Given the description of an element on the screen output the (x, y) to click on. 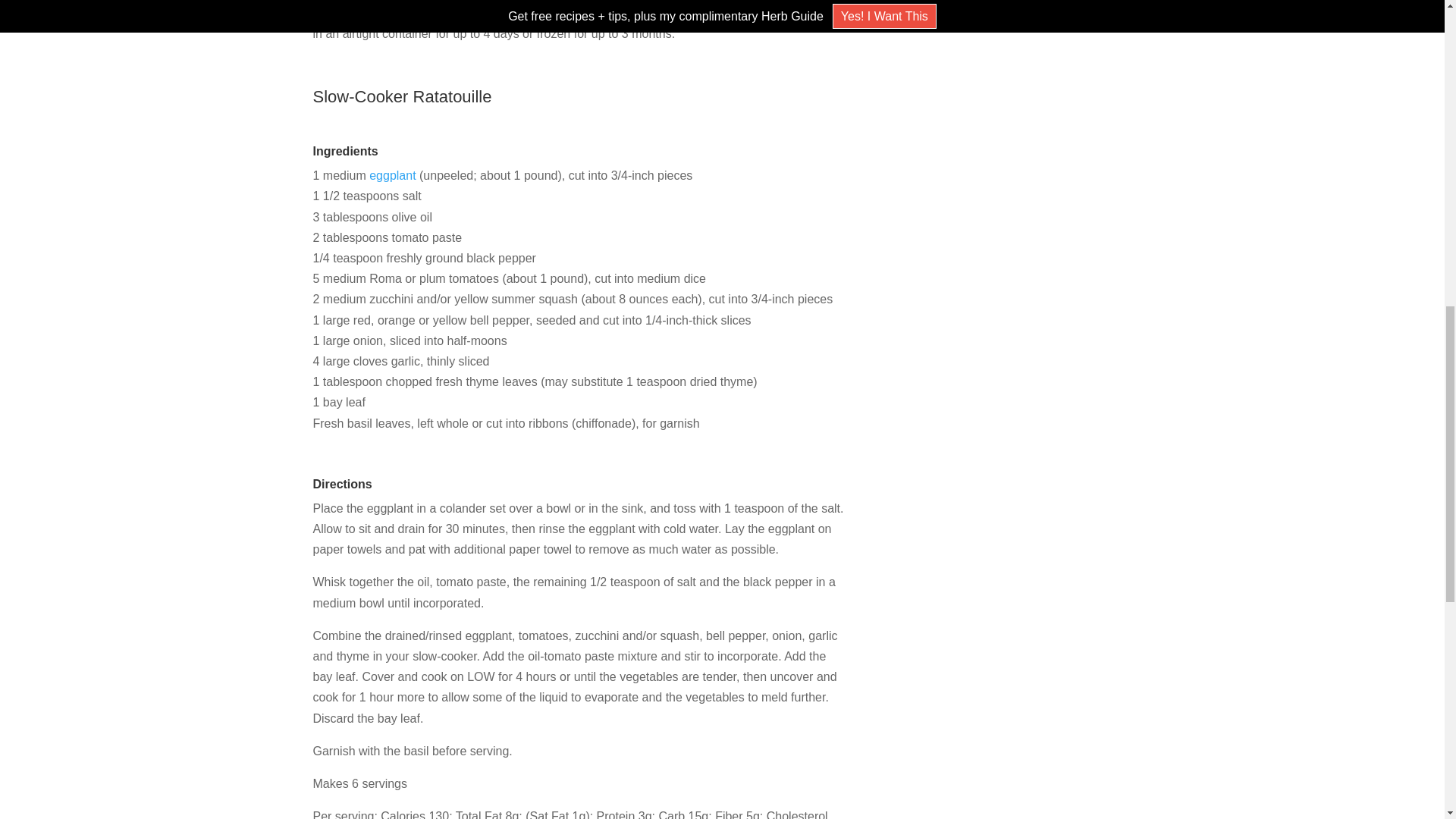
eggplant (391, 174)
